Given the description of an element on the screen output the (x, y) to click on. 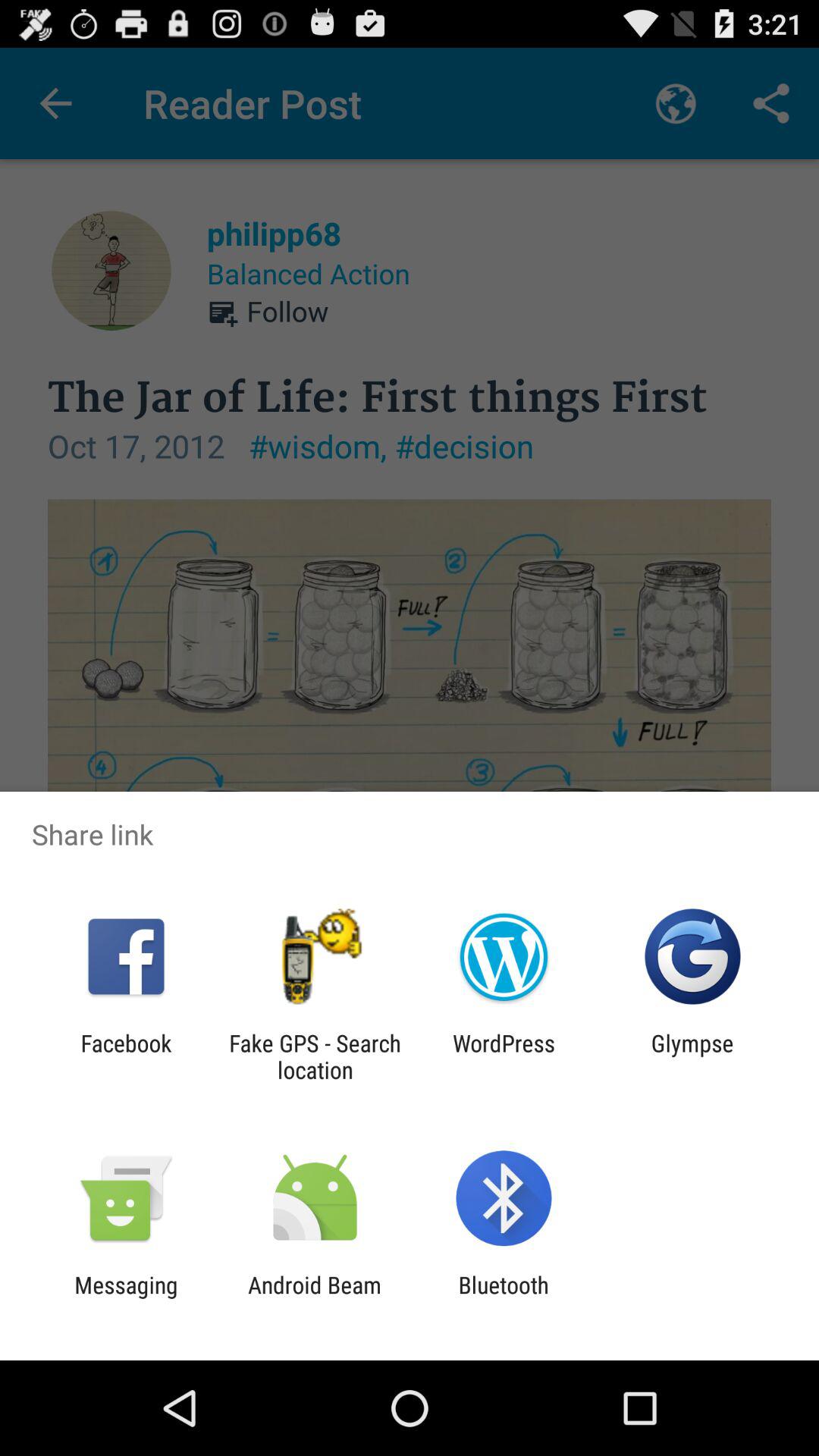
press item to the left of glympse (503, 1056)
